Given the description of an element on the screen output the (x, y) to click on. 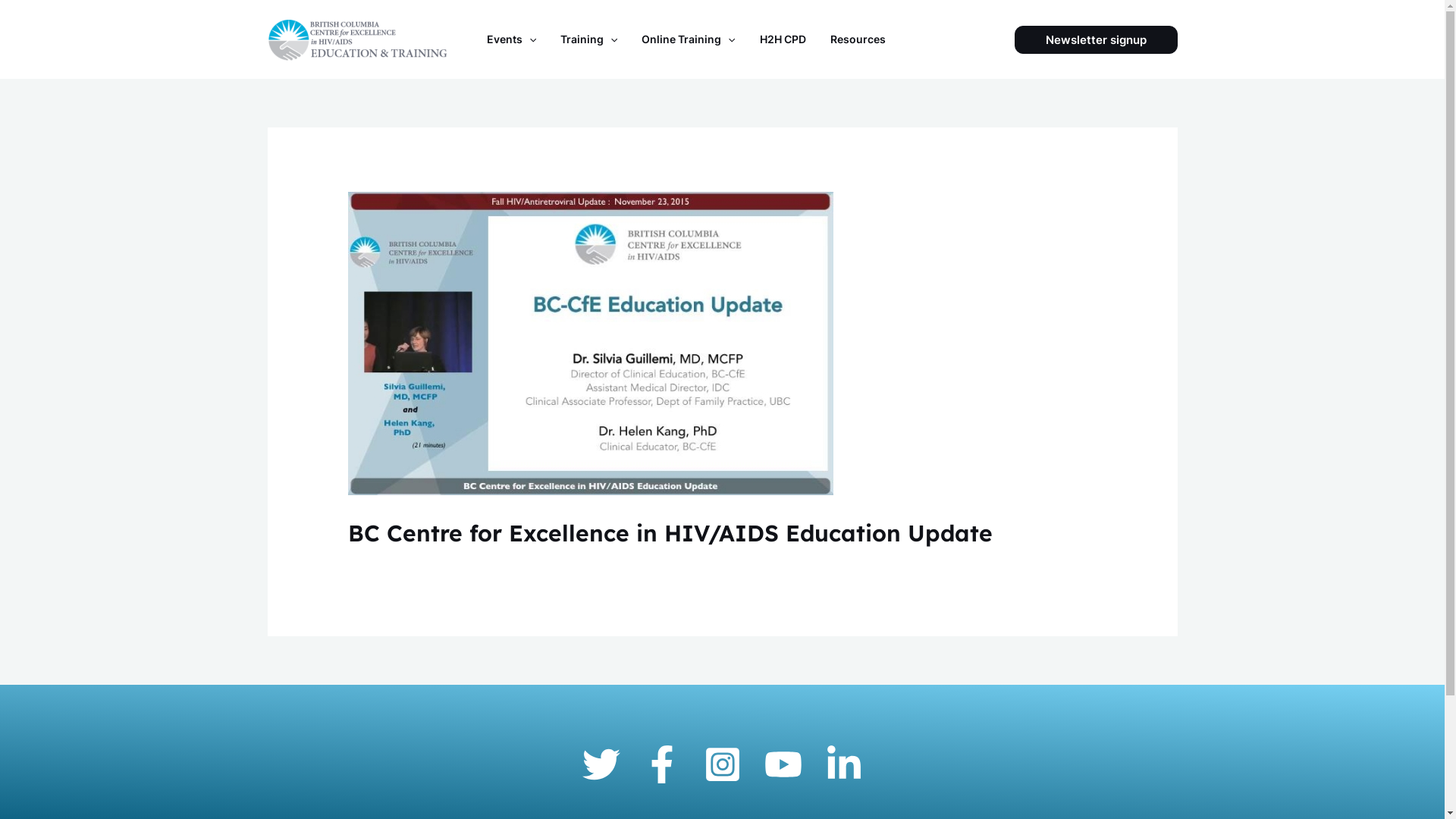
Online Training Element type: text (688, 39)
Events Element type: text (511, 39)
H2H CPD Element type: text (783, 39)
Resources Element type: text (858, 39)
Training Element type: text (589, 39)
Newsletter signup Element type: text (1095, 39)
